Given the description of an element on the screen output the (x, y) to click on. 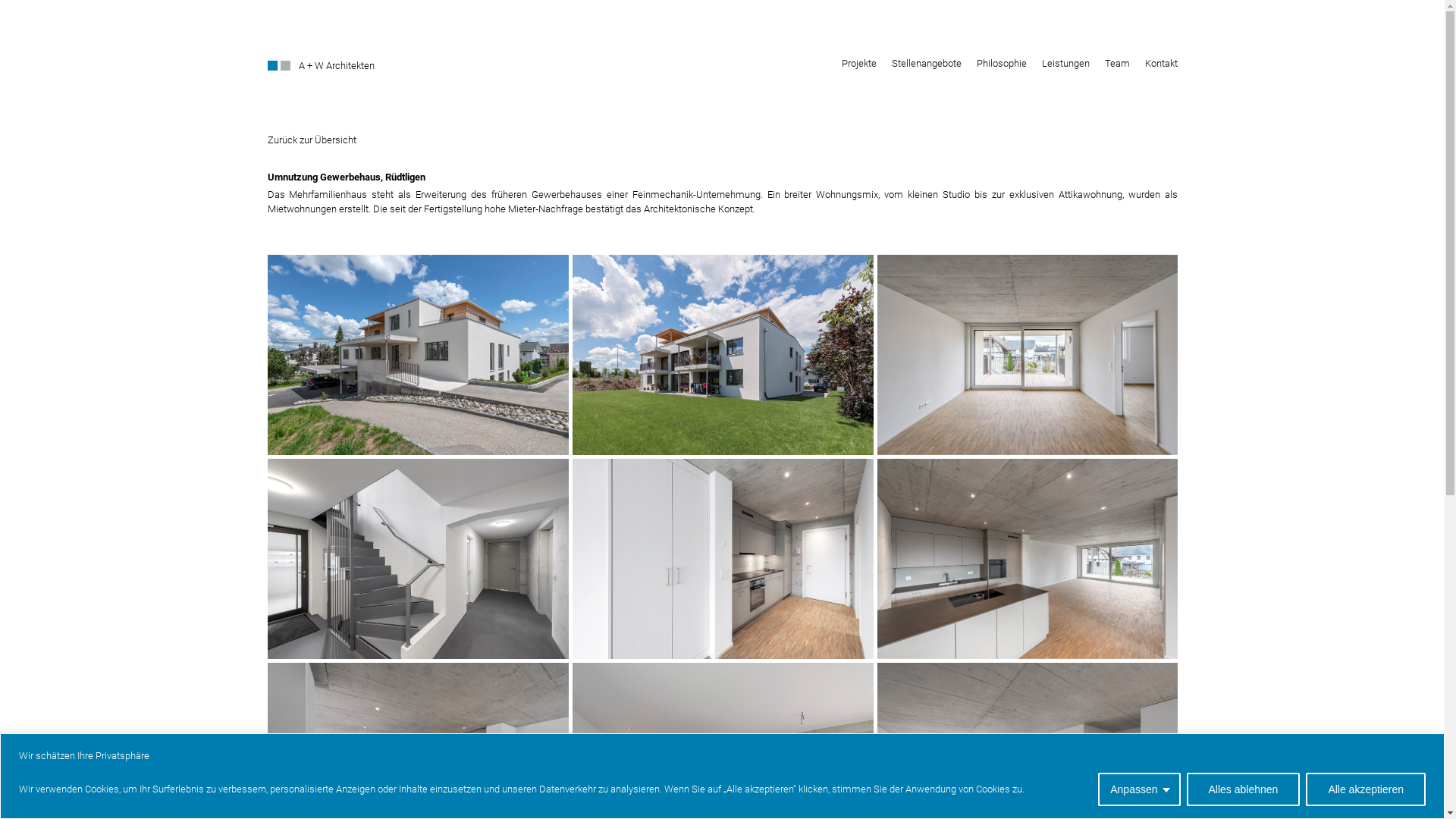
aw-architekten-kirchberg-umnutzung-gewerbehaus-ruedtligen-08 Element type: hover (1026, 558)
Anpassen Element type: text (1138, 788)
aw-architekten-kirchberg-umnutzung-gewerbehaus-ruedtligen-13 Element type: hover (416, 558)
Alles ablehnen Element type: text (1243, 788)
aw-architekten-kirchberg-umnutzung-gewerbehaus-ruedtligen-14 Element type: hover (721, 354)
Kontakt Element type: text (1161, 63)
Philosophie Element type: text (1001, 63)
Team Element type: text (1116, 63)
aw-architekten-kirchberg-umnutzung-gewerbehaus-ruedtligen-15 Element type: hover (416, 354)
aw-architekten-kirchberg-umnutzung-gewerbehaus-ruedtligen-05 Element type: hover (721, 558)
Leistungen Element type: text (1065, 63)
Alle akzeptieren Element type: text (1365, 788)
Stellenangebote Element type: text (926, 63)
aw-architekten-kirchberg-umnutzung-gewerbehaus-ruedtligen-16 Element type: hover (1026, 354)
A + W Architekten Element type: text (336, 65)
Projekte Element type: text (858, 63)
